Given the description of an element on the screen output the (x, y) to click on. 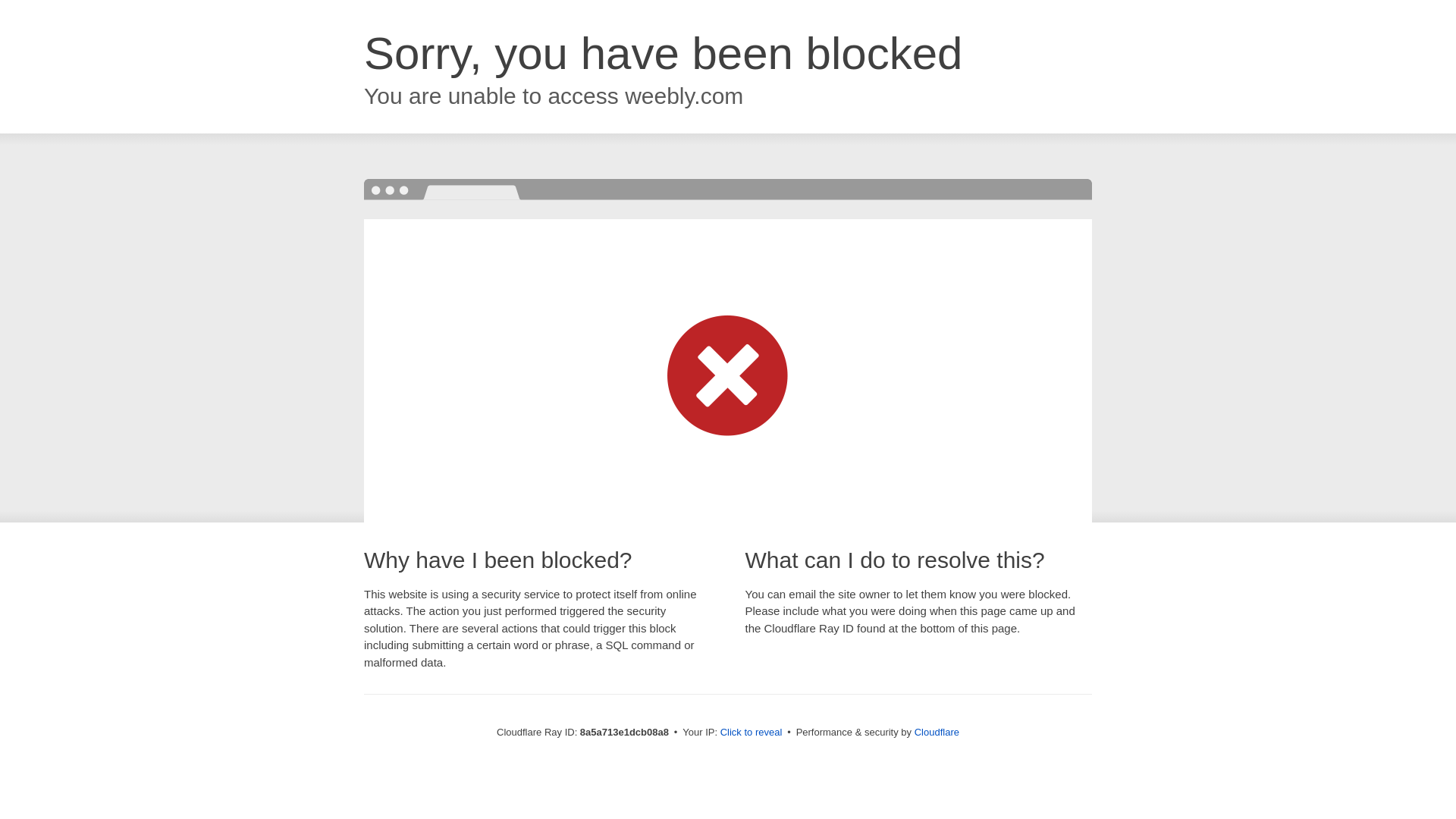
Cloudflare (936, 731)
Click to reveal (751, 732)
